Given the description of an element on the screen output the (x, y) to click on. 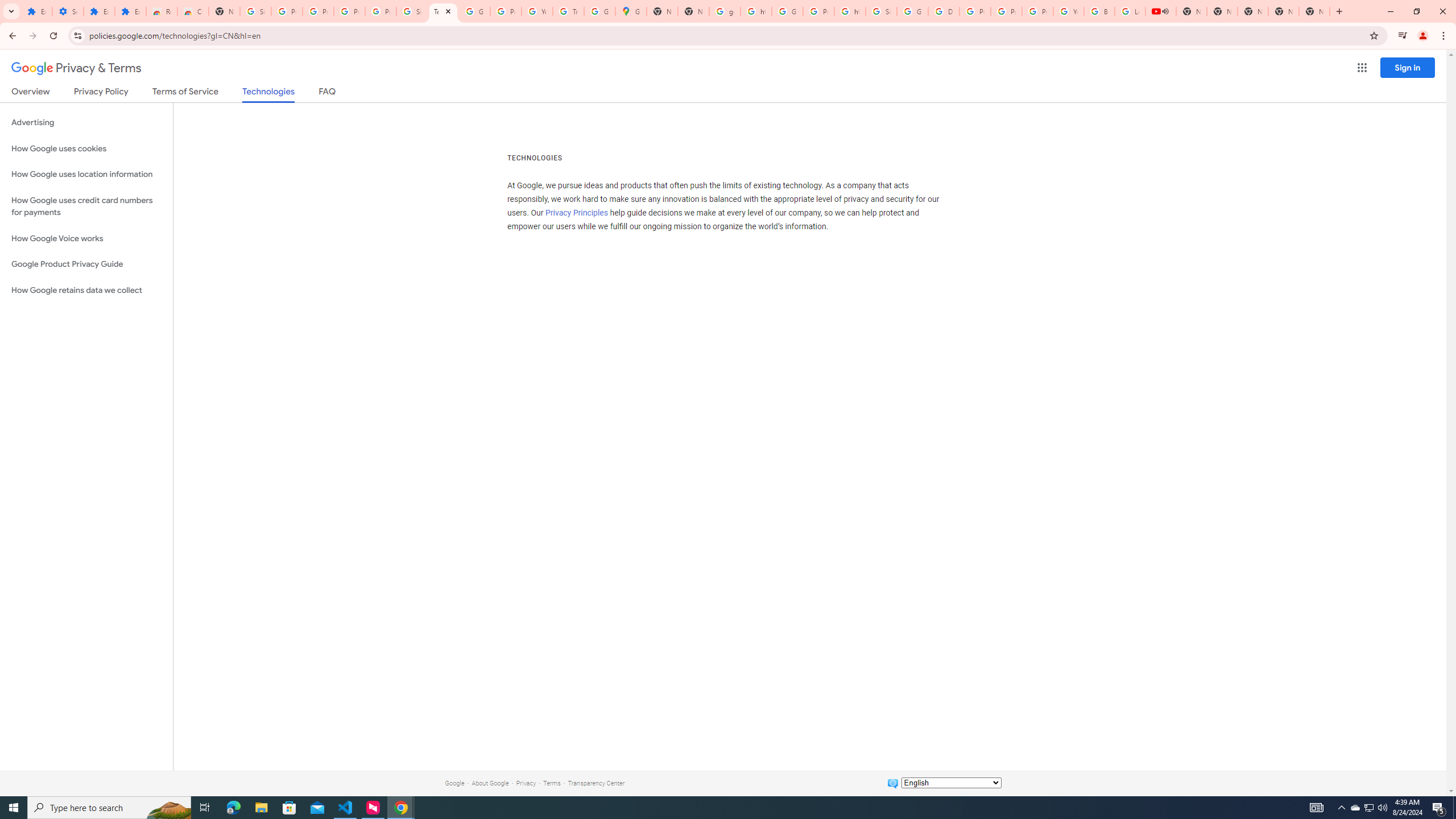
Extensions (130, 11)
New Tab (693, 11)
Settings (67, 11)
Privacy Help Center - Policies Help (1005, 11)
Privacy Principles (577, 213)
Sign in - Google Accounts (411, 11)
